Given the description of an element on the screen output the (x, y) to click on. 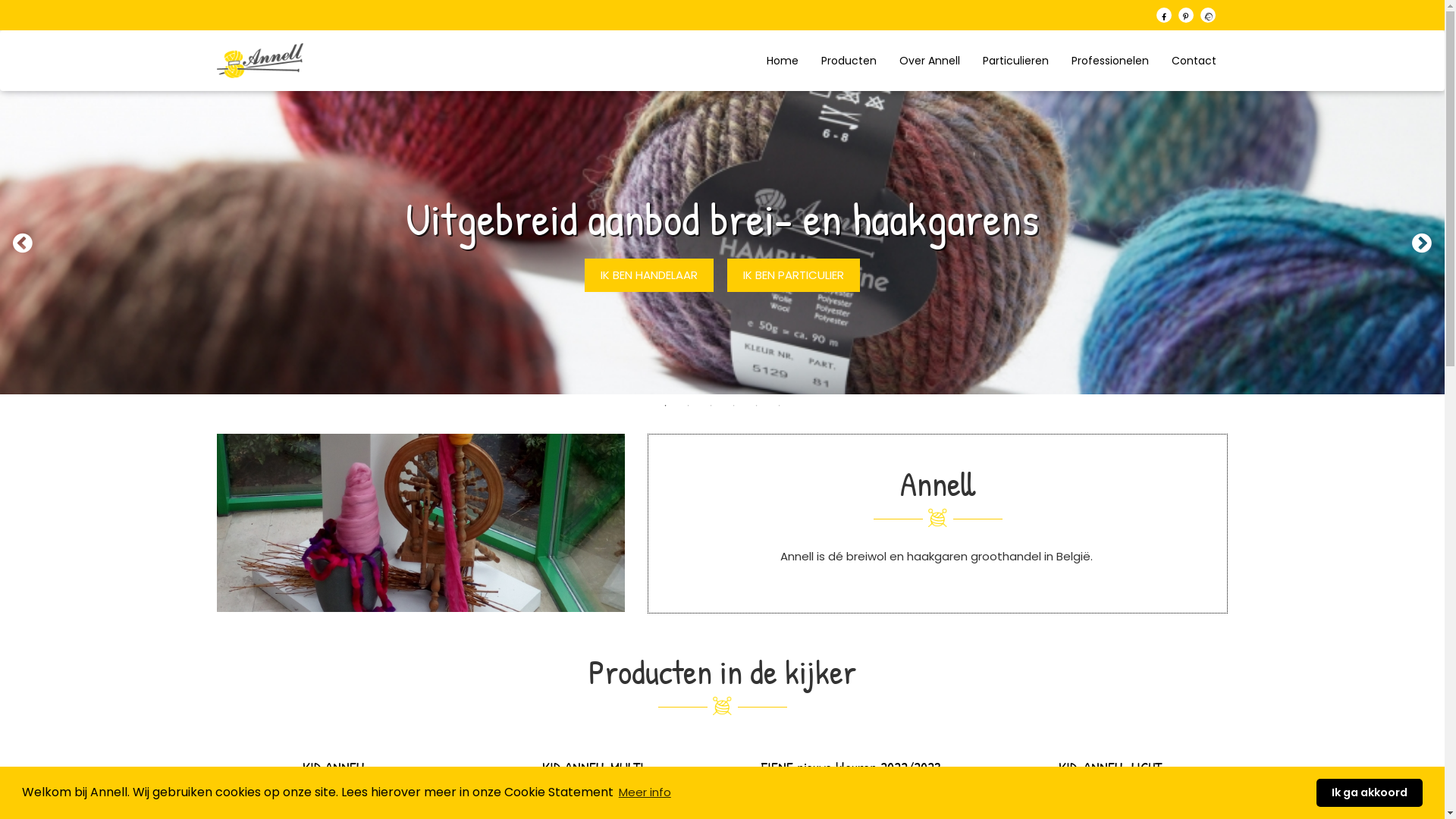
Next Element type: text (1421, 242)
6 Element type: text (779, 405)
2 Element type: text (688, 405)
5 Element type: text (756, 405)
Over Annell Element type: text (929, 60)
IK BEN HANDELAAR Element type: text (648, 275)
3 Element type: text (710, 405)
Professionelen Element type: text (1110, 60)
Contact Element type: text (1193, 60)
Home Element type: text (782, 60)
Producten Element type: text (848, 60)
Previous Element type: text (22, 242)
4 Element type: text (733, 405)
Particulieren Element type: text (1015, 60)
1 Element type: text (665, 405)
IK BEN PARTICULIER Element type: text (793, 275)
Meer info Element type: text (644, 792)
Ik ga akkoord Element type: text (1369, 792)
